Given the description of an element on the screen output the (x, y) to click on. 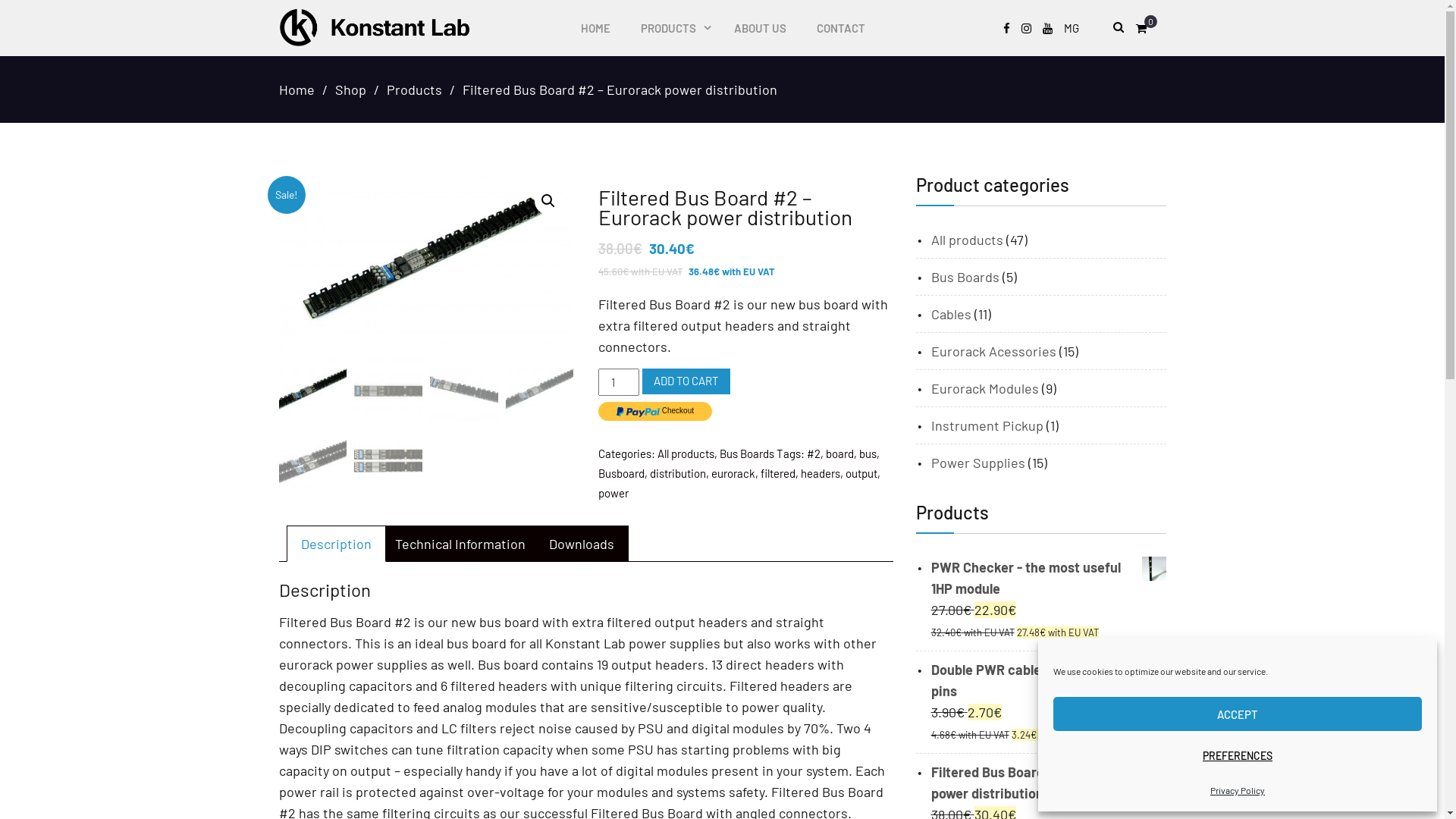
ABOUT US Element type: text (759, 28)
Busboard Element type: text (621, 473)
Qty Element type: hover (618, 381)
distribution Element type: text (677, 473)
output Element type: text (861, 473)
HOME Element type: text (595, 28)
PREFERENCES Element type: text (1237, 755)
bus Element type: text (867, 453)
SFFB3 Element type: hover (426, 262)
Technical Information Element type: text (459, 543)
board Element type: text (839, 453)
0 Element type: text (1144, 28)
Instagram Element type: text (1025, 28)
Products Element type: text (414, 89)
power Element type: text (613, 492)
Power Supplies Element type: text (978, 462)
#2 Element type: text (813, 453)
Facebook Element type: text (1005, 28)
Privacy Policy Element type: text (1237, 790)
filtered Element type: text (777, 473)
Instrument Pickup Element type: text (987, 425)
Eurorack Acessories Element type: text (993, 350)
MG Element type: text (1070, 28)
Cables Element type: text (951, 313)
Bus Boards Element type: text (965, 276)
Bus Boards Element type: text (746, 453)
headers Element type: text (820, 473)
Description Element type: text (335, 543)
eurorack Element type: text (733, 473)
Home Element type: text (296, 89)
All products Element type: text (685, 453)
Eurorack Modules Element type: text (984, 387)
PRODUCTS Element type: text (671, 28)
Shop Element type: text (350, 89)
PWR Checker - the most useful 1HP module Element type: text (1048, 577)
All products Element type: text (967, 239)
PayPal Element type: hover (655, 410)
ADD TO CART Element type: text (686, 381)
Filtered Bus Board #2 - Eurorack power distribution Element type: text (1048, 782)
Youtube Element type: text (1046, 28)
CONTACT Element type: text (839, 28)
Downloads Element type: text (581, 543)
ACCEPT Element type: text (1237, 713)
